Given the description of an element on the screen output the (x, y) to click on. 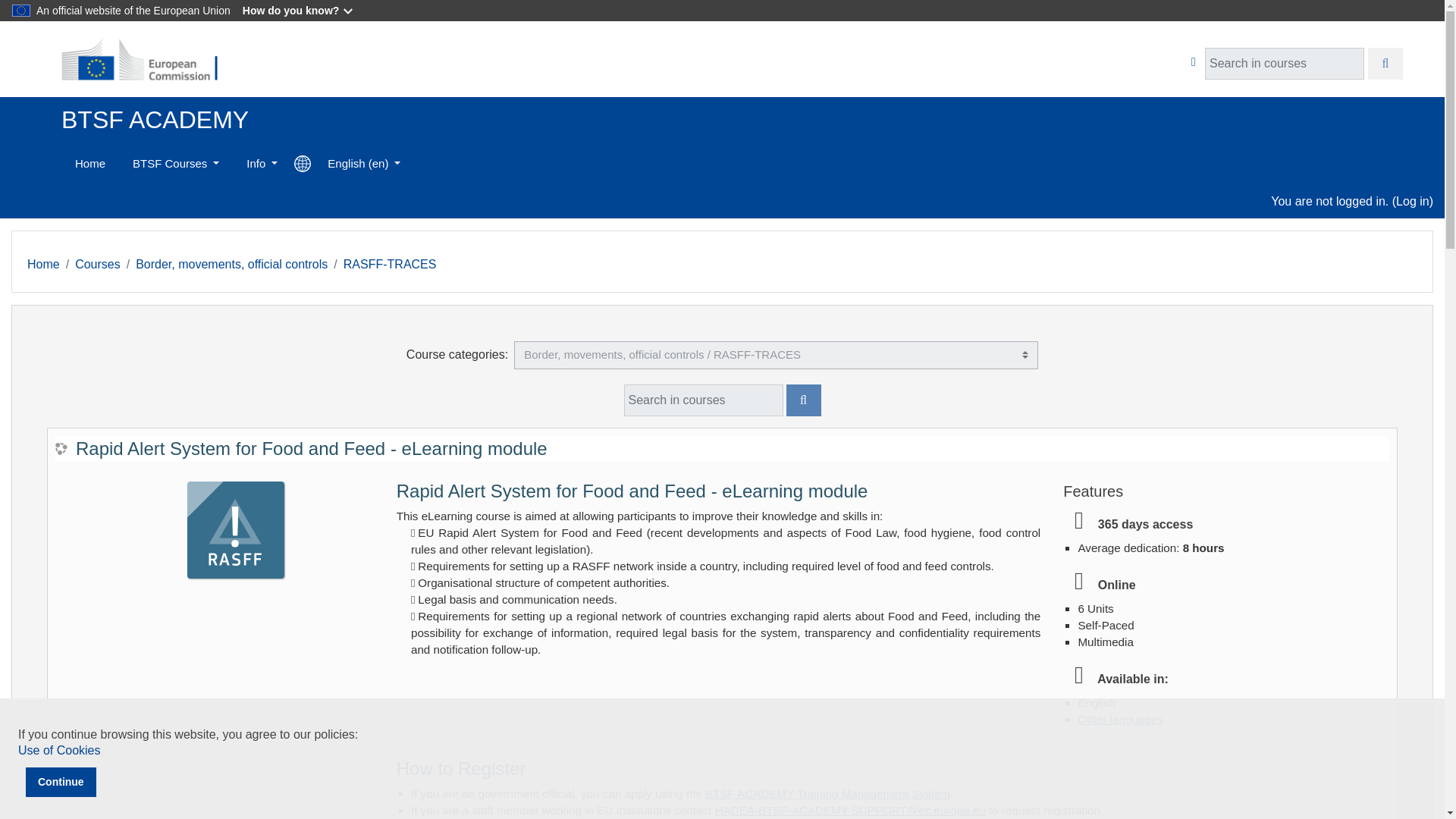
Search in courses (1385, 63)
BTSF Courses (175, 163)
Help with Search in courses (1193, 61)
BTSF ACADEMY (90, 163)
Home (90, 163)
Better Training for Safer Food Courses (175, 163)
How do you know? (299, 10)
Info (261, 163)
Language (363, 163)
General Information Menu (261, 163)
